Given the description of an element on the screen output the (x, y) to click on. 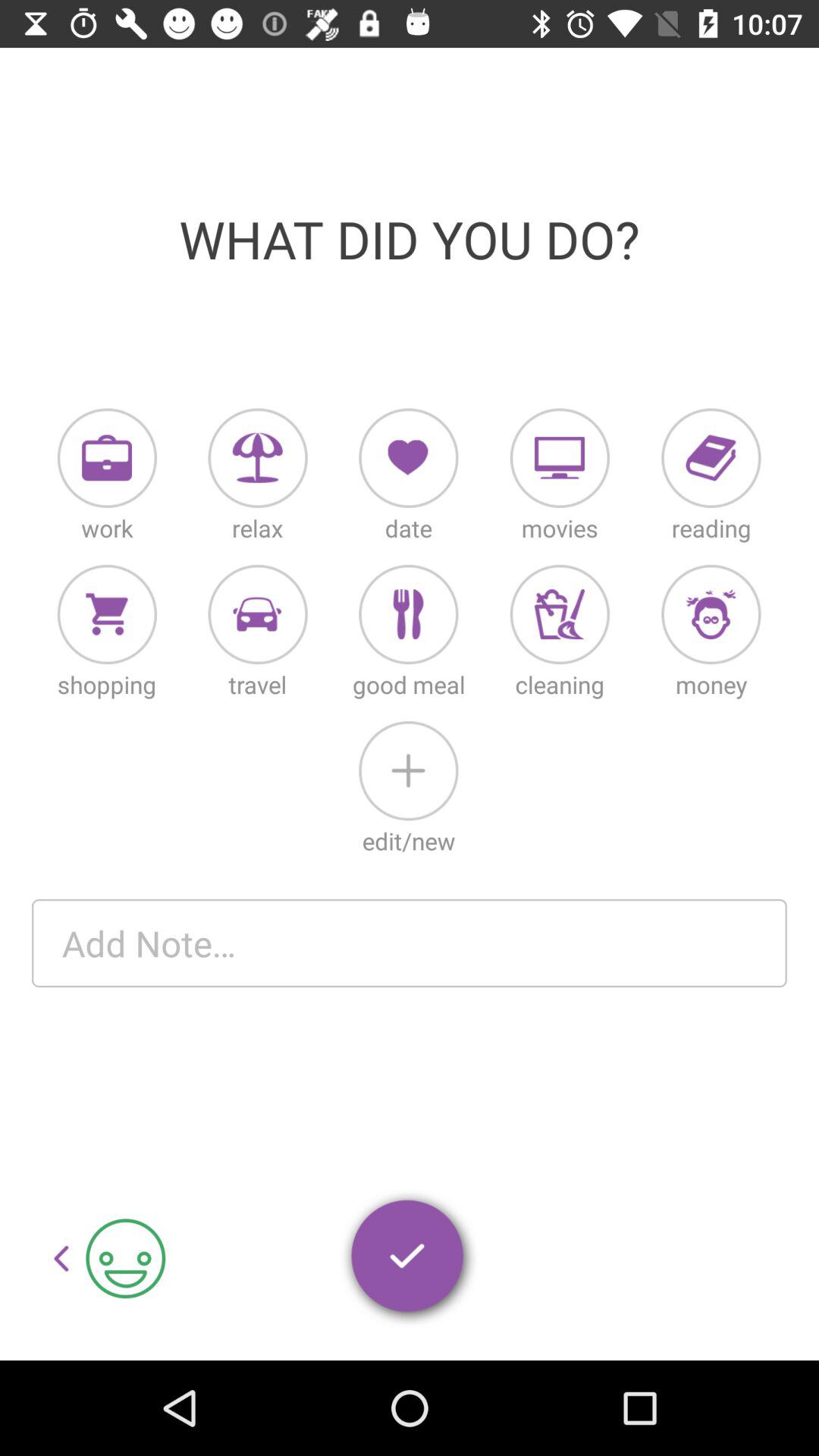
done (408, 1258)
